Given the description of an element on the screen output the (x, y) to click on. 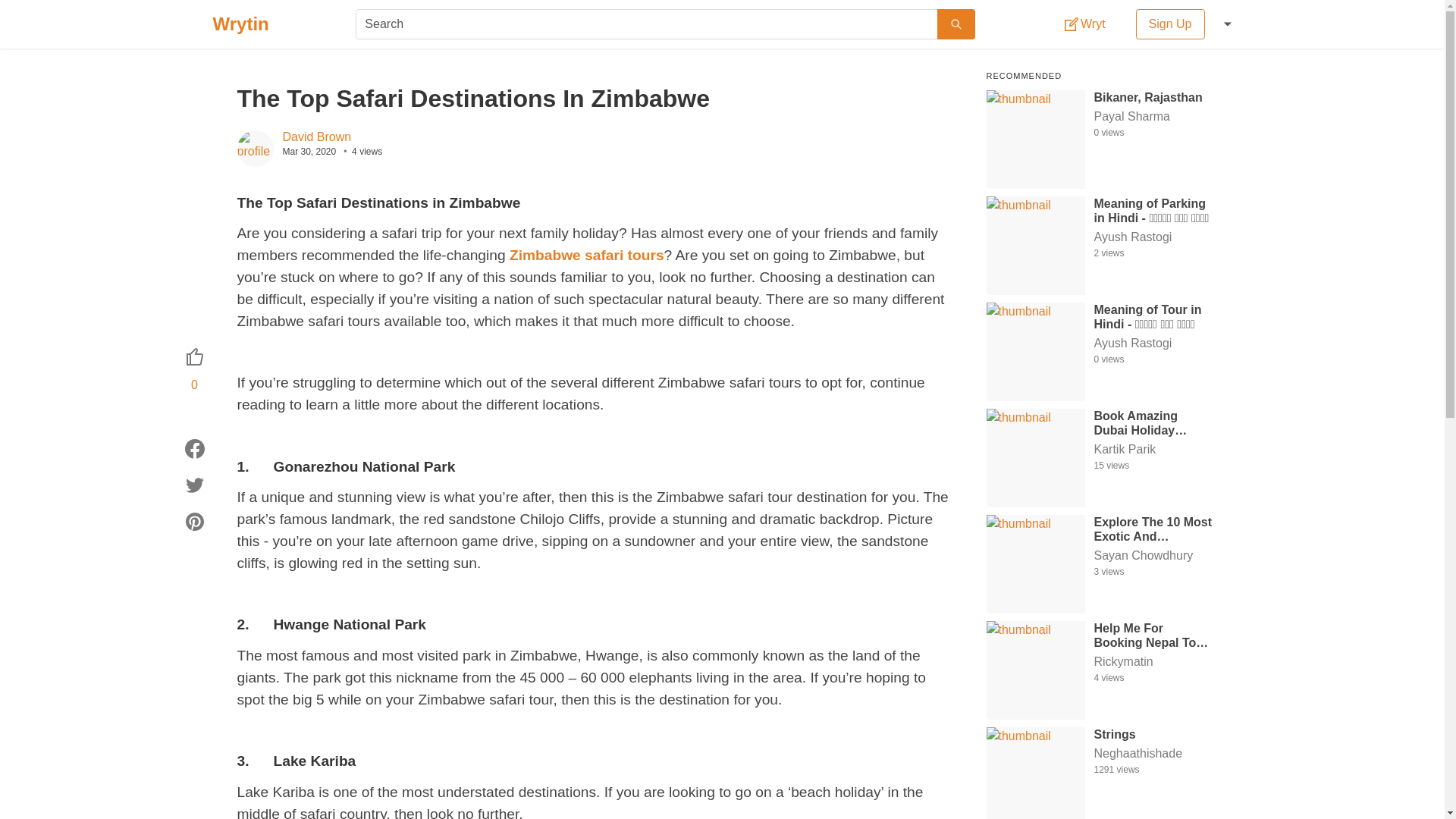
Help Me For Booking Nepal Tour Package (1152, 634)
Sayan Chowdhury (1152, 556)
Book Amazing Dubai Holiday Packages With Roamingroutes (1152, 421)
Kartik Parik (1152, 449)
Ayush Rastogi (1152, 343)
Help Me For Booking Nepal Tour Package (1152, 634)
Ayush Rastogi (1152, 237)
Ayush Rastogi (1152, 237)
Payal Sharma (1152, 116)
Bikaner, Rajasthan (1152, 96)
Rickymatin (1152, 661)
Explore The 10 Most Exotic And Unexplored Places In India (1152, 528)
Sayan Chowdhury (1152, 556)
Explore The 10 Most Exotic And Unexplored Places In India (1152, 528)
Payal Sharma (1152, 116)
